Given the description of an element on the screen output the (x, y) to click on. 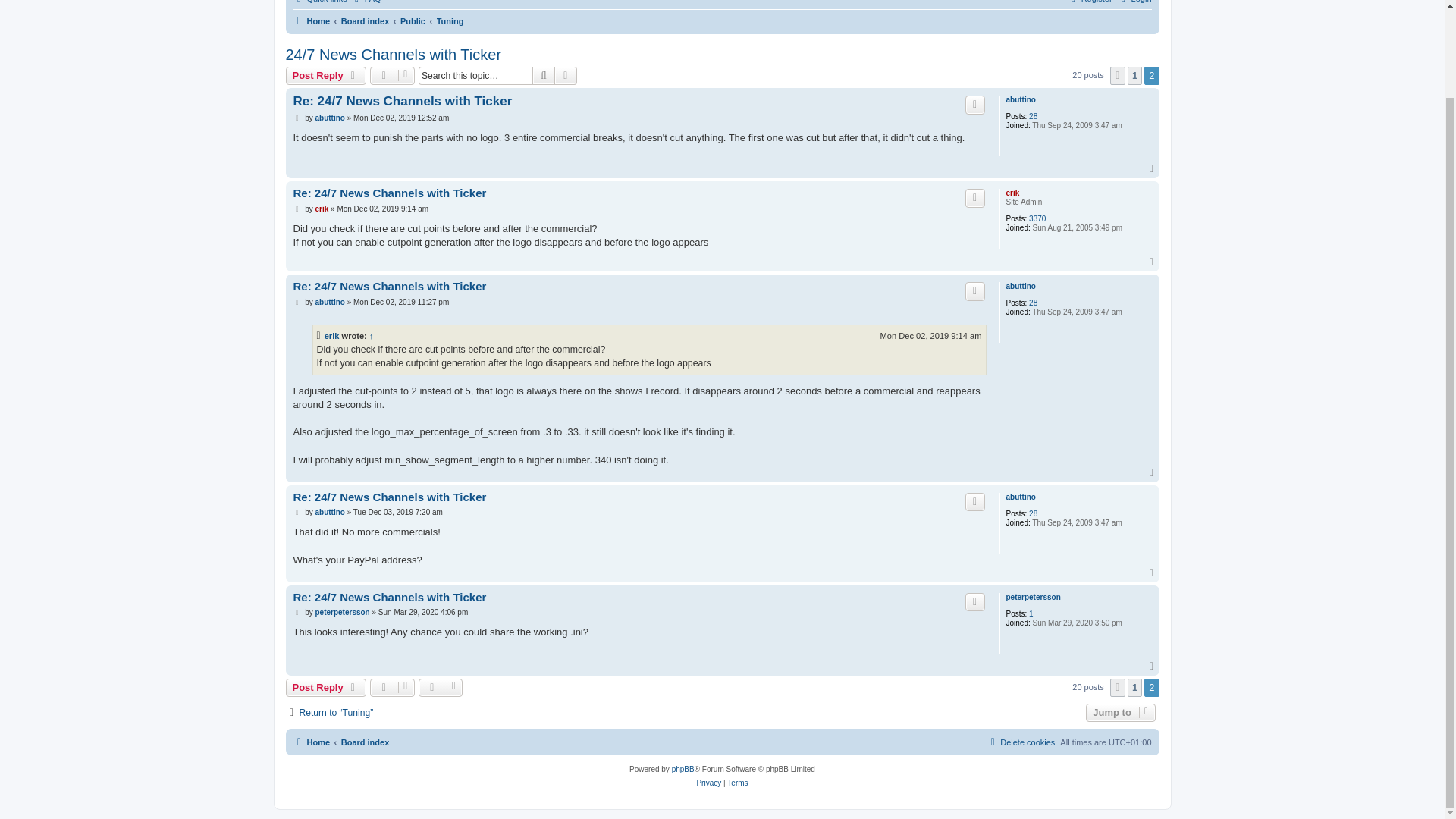
Reply with quote (975, 198)
Advanced search (565, 75)
Quote (975, 198)
abuttino (328, 117)
Top (1151, 168)
Post (297, 208)
Login (1134, 3)
Post (297, 117)
Board index (365, 21)
Frequently Asked Questions (365, 3)
